Given the description of an element on the screen output the (x, y) to click on. 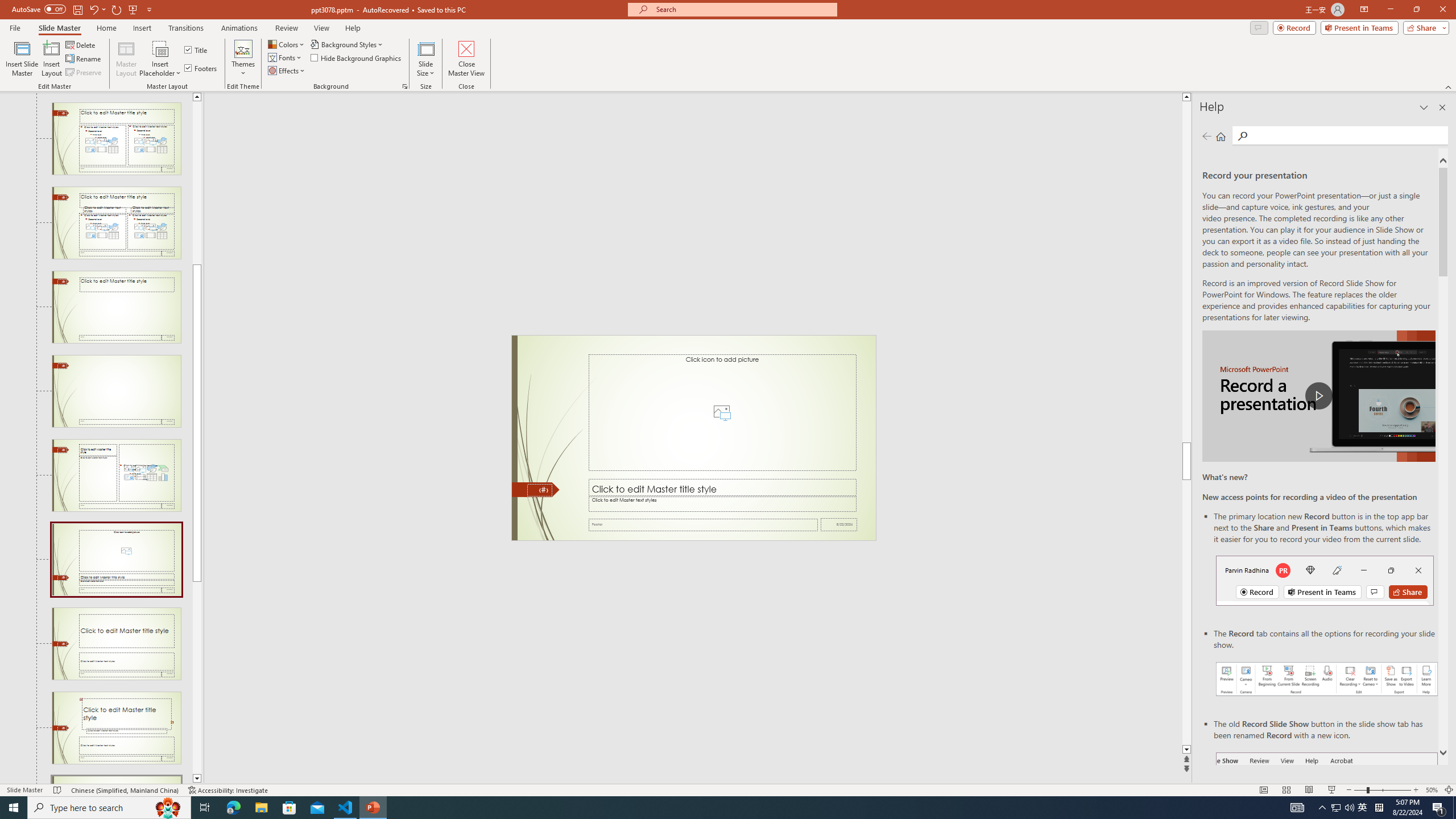
Title (196, 49)
Freeform 11 (535, 489)
Themes (243, 58)
Footer (703, 524)
Format Background... (404, 85)
Title TextBox (722, 488)
Search (1347, 135)
Slide Title and Caption Layout: used by no slides (116, 643)
Slide Comparison Layout: used by no slides (116, 222)
Spell Check No Errors (57, 790)
